Given the description of an element on the screen output the (x, y) to click on. 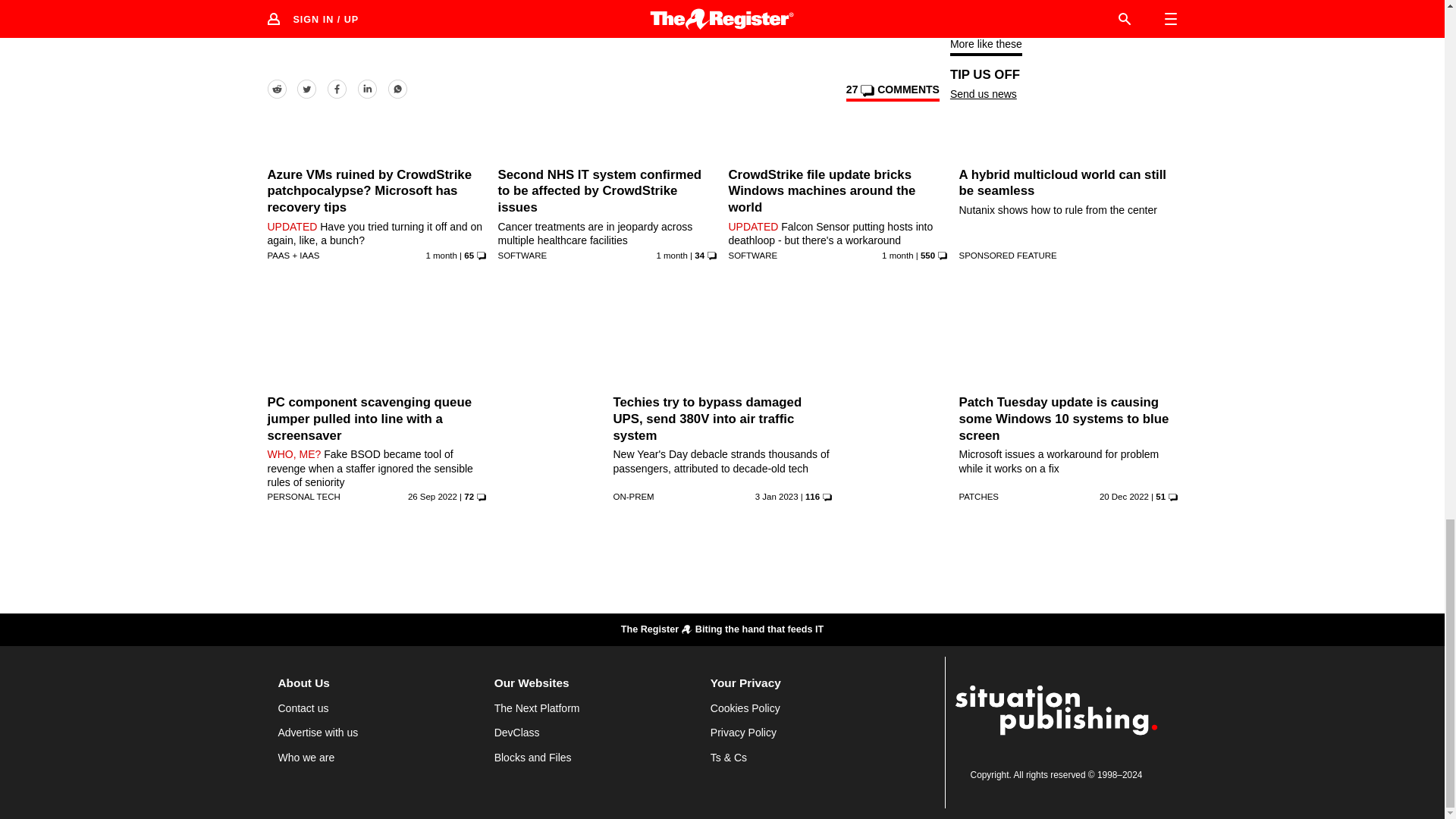
20 Dec 2022 0:30 (1123, 496)
19 Jul 2024 12:47 (441, 255)
19 Jul 2024 12:43 (671, 255)
View comments on this article (892, 92)
26 Sep 2022 7:32 (432, 496)
19 Jul 2024 6:46 (897, 255)
3 Jan 2023 13:0 (776, 496)
